Given the description of an element on the screen output the (x, y) to click on. 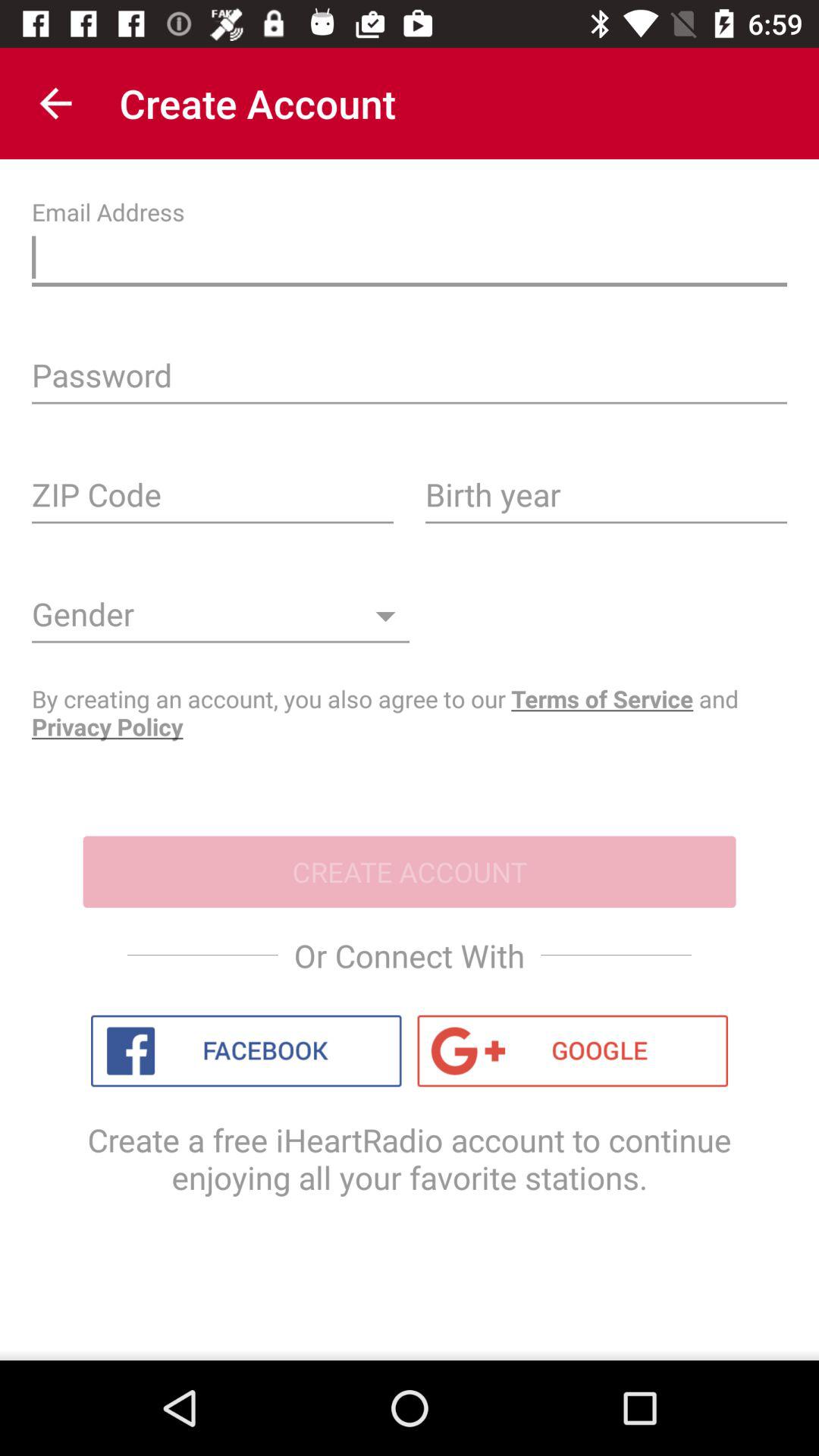
tap by creating an item (409, 712)
